Given the description of an element on the screen output the (x, y) to click on. 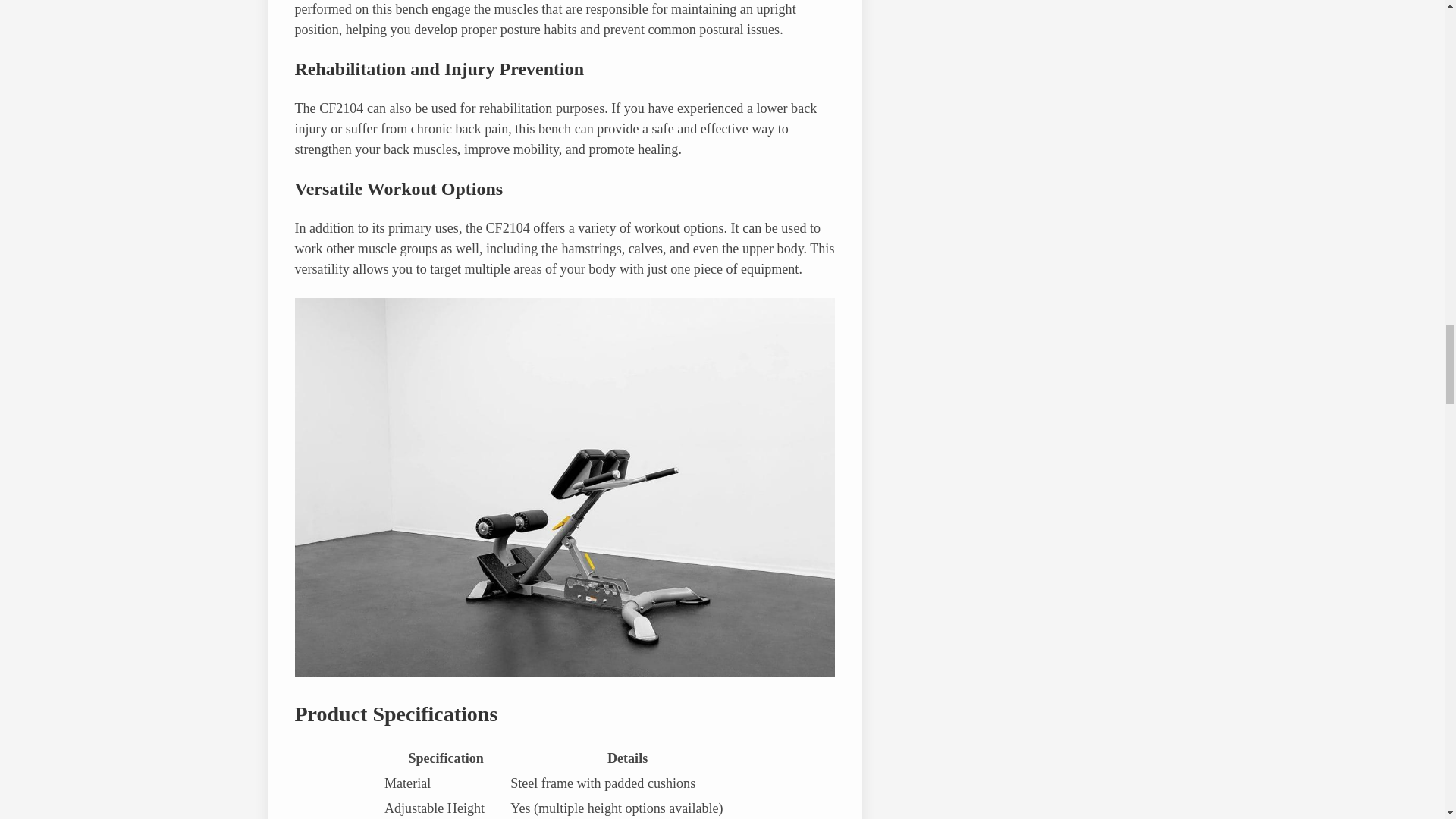
Elite Series - Hyper Extension Bench - CF2104 (564, 672)
